Given the description of an element on the screen output the (x, y) to click on. 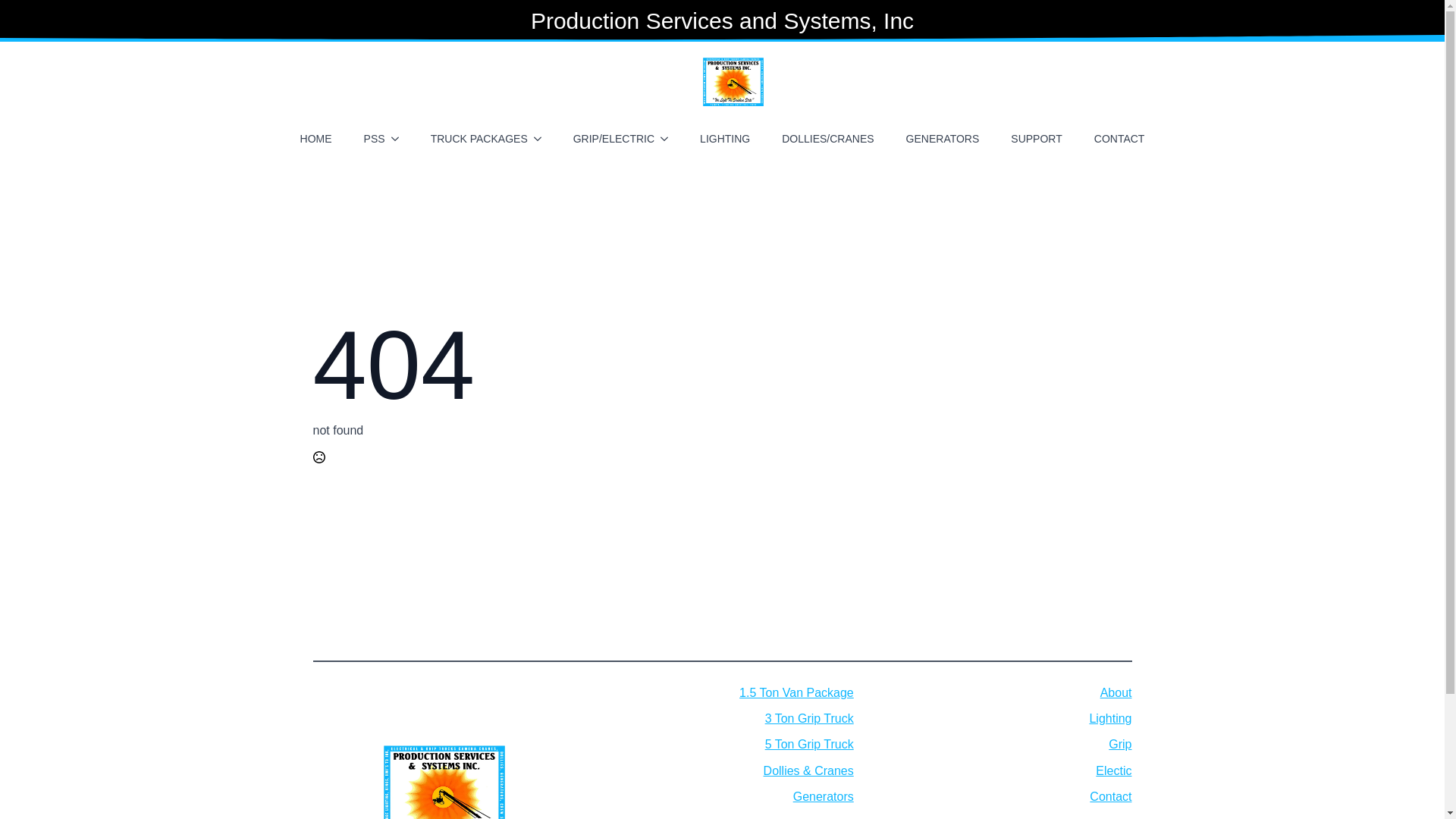
3 Ton Grip Truck (809, 718)
5 Ton Grip Truck (809, 744)
GENERATORS (942, 138)
About (1116, 692)
HOME (315, 138)
1.5 Ton Van Package (796, 692)
Lighting (1110, 718)
TRUCK PACKAGES (473, 138)
Generators (823, 796)
LIGHTING (724, 138)
